Given the description of an element on the screen output the (x, y) to click on. 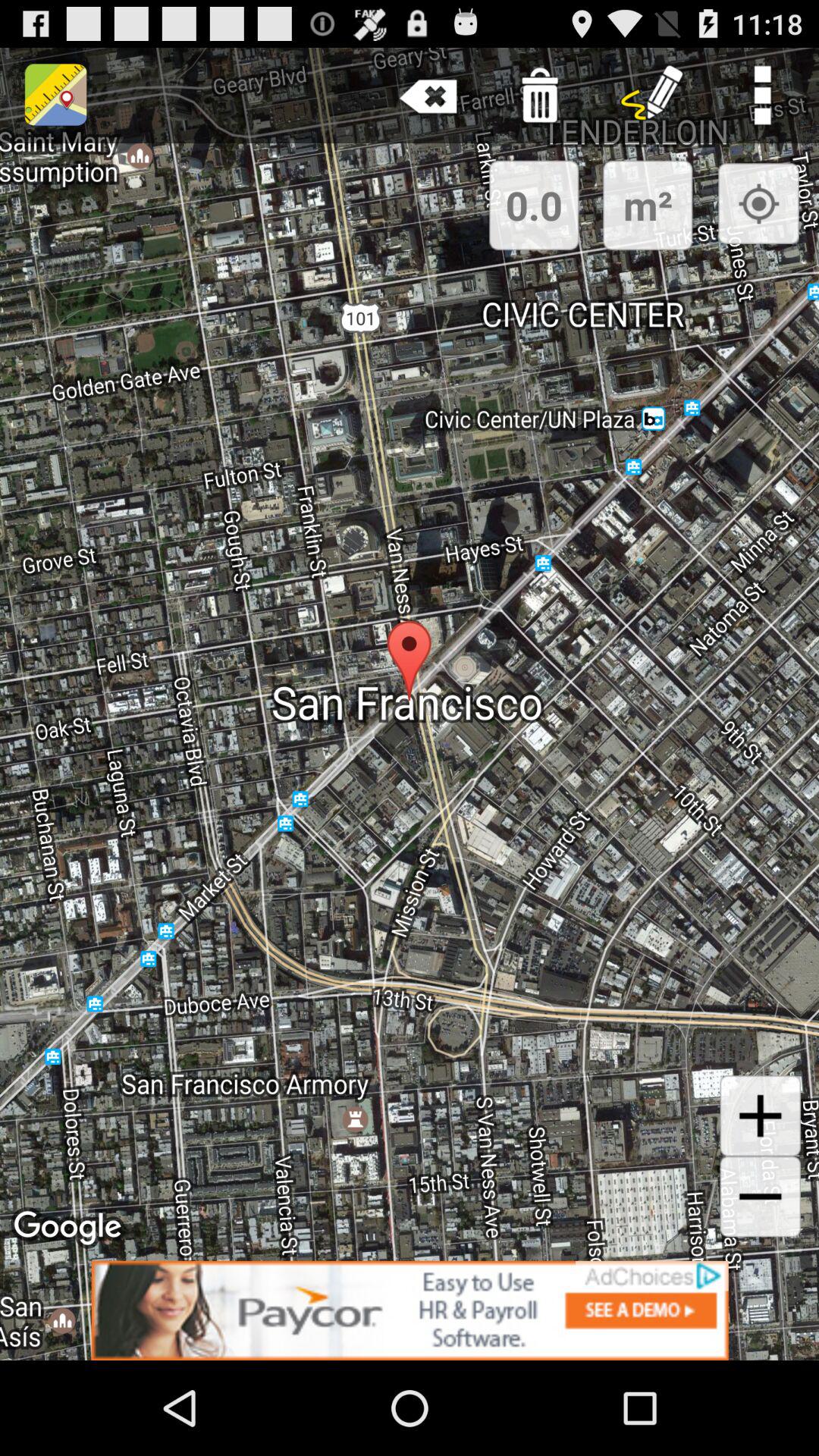
zoom out map (760, 1196)
